Given the description of an element on the screen output the (x, y) to click on. 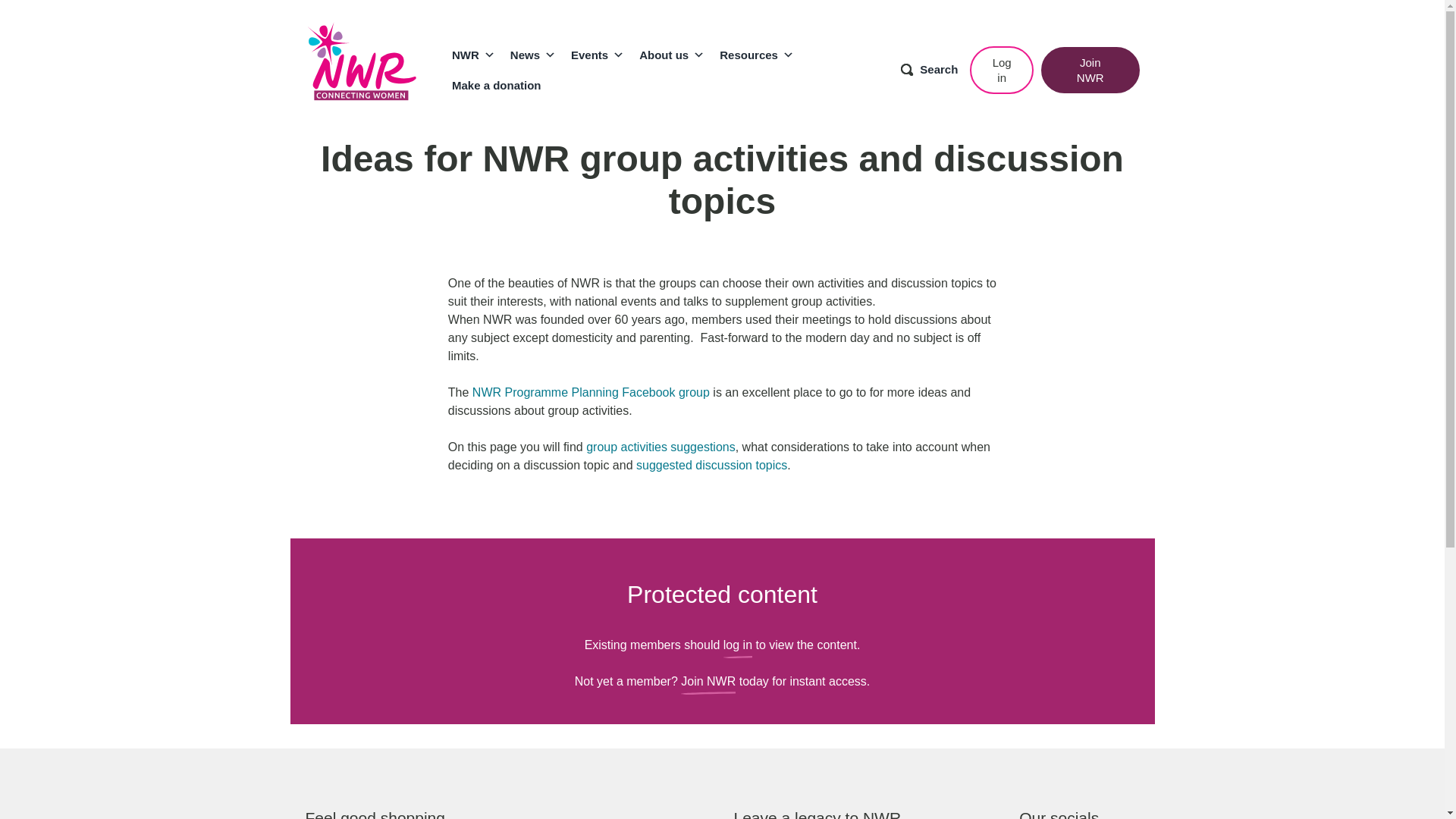
News (532, 54)
Make a donation (496, 84)
Events (597, 54)
Resources (756, 54)
Join NWR (1090, 69)
Log in (1001, 69)
NWR (473, 54)
About us (671, 54)
